Given the description of an element on the screen output the (x, y) to click on. 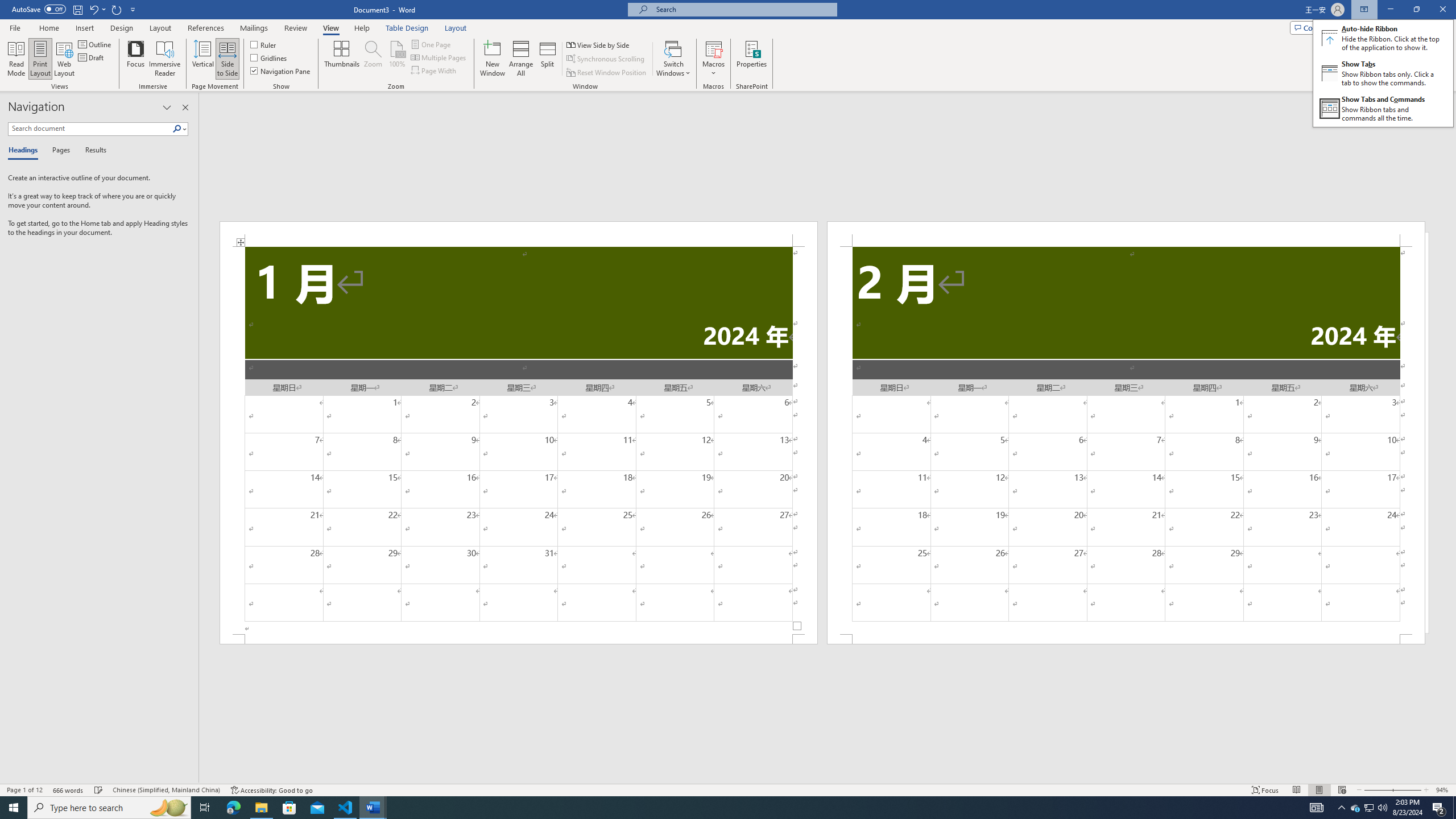
Undo Increase Indent (96, 9)
Class: NetUIScrollBar (827, 778)
Running applications (717, 807)
Ribbon Display Options (1383, 73)
Table Design (407, 28)
Quick Access Toolbar (74, 9)
Ribbon Display Options (1364, 9)
View Side by Side (598, 44)
Close pane (185, 107)
Page 1 content (518, 439)
AutomationID: 4105 (1316, 807)
